Given the description of an element on the screen output the (x, y) to click on. 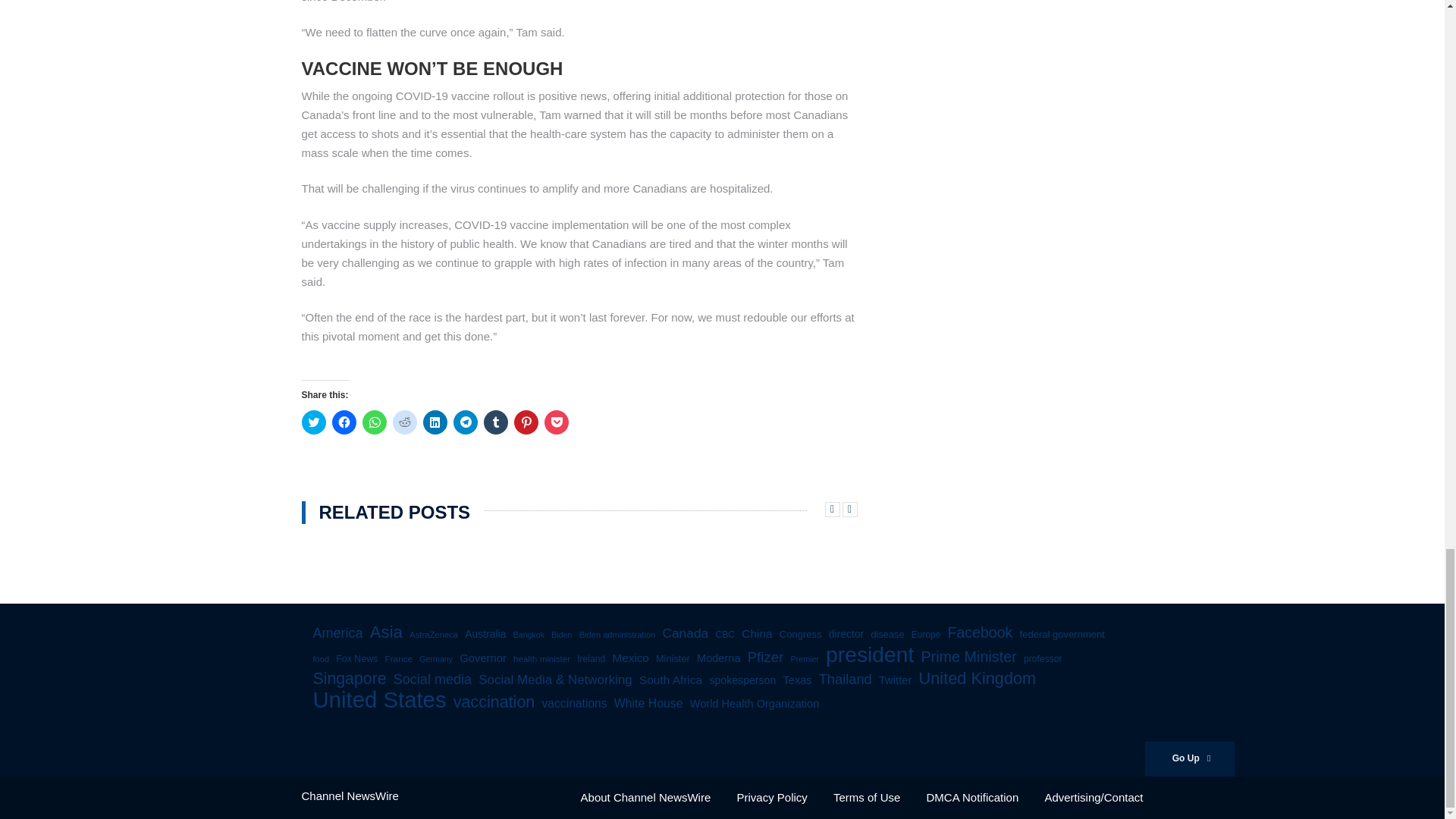
Click to share on Tumblr (495, 422)
Click to share on Twitter (313, 422)
Click to share on Telegram (464, 422)
Click to share on Facebook (343, 422)
Click to share on Pocket (556, 422)
Click to share on Pinterest (525, 422)
Click to share on Reddit (404, 422)
Click to share on WhatsApp (374, 422)
Click to share on LinkedIn (434, 422)
